Given the description of an element on the screen output the (x, y) to click on. 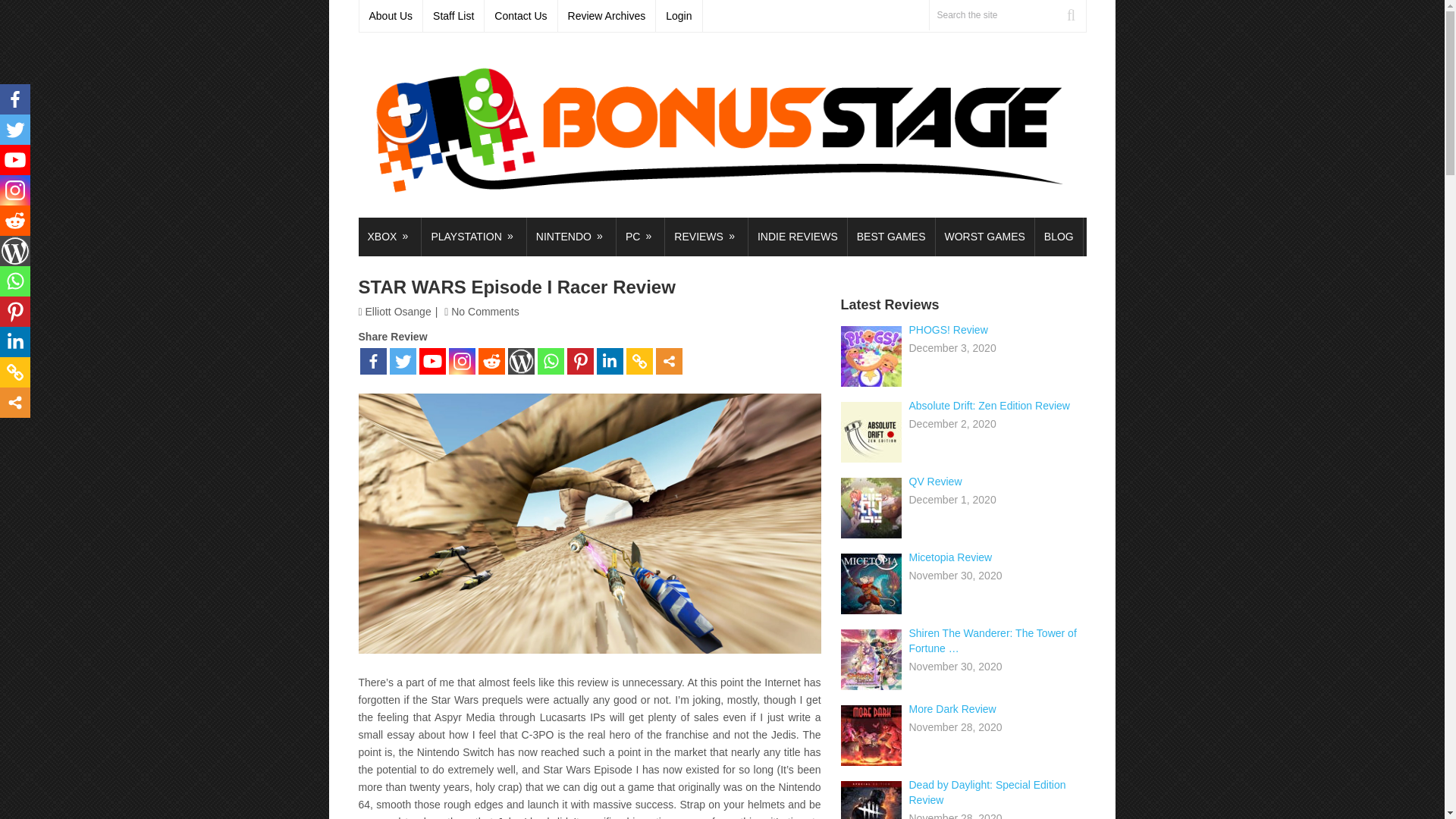
Staff List (453, 15)
Login (678, 15)
About Us (391, 15)
PC (639, 236)
Contact Us (520, 15)
REVIEWS (706, 236)
Review Archives (606, 15)
PLAYSTATION (473, 236)
XBOX (389, 236)
NINTENDO (571, 236)
